Given the description of an element on the screen output the (x, y) to click on. 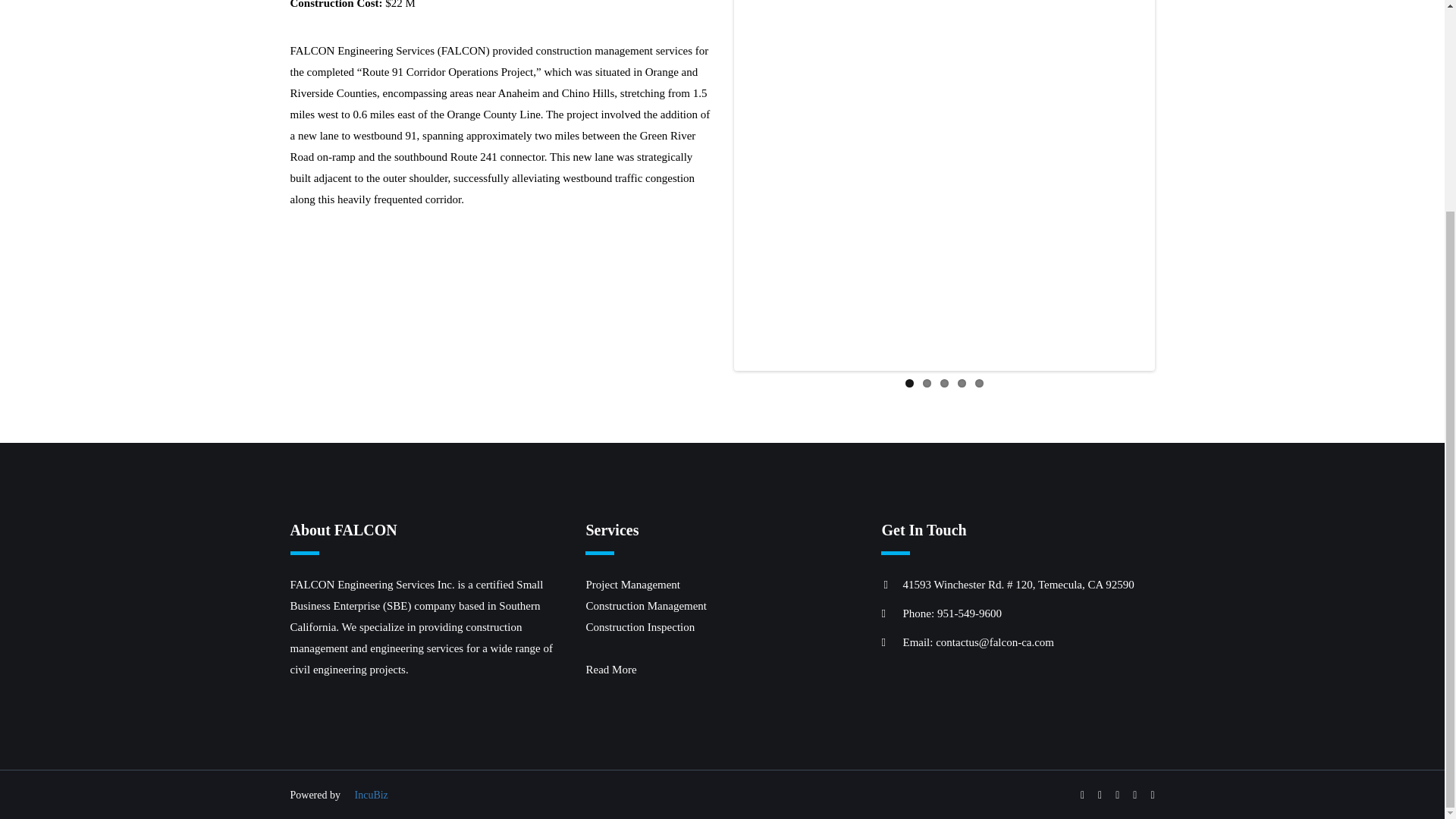
3 (944, 383)
5 (979, 383)
Read More (610, 669)
1 (909, 383)
IncuBiz (371, 794)
4 (960, 383)
2 (925, 383)
